Given the description of an element on the screen output the (x, y) to click on. 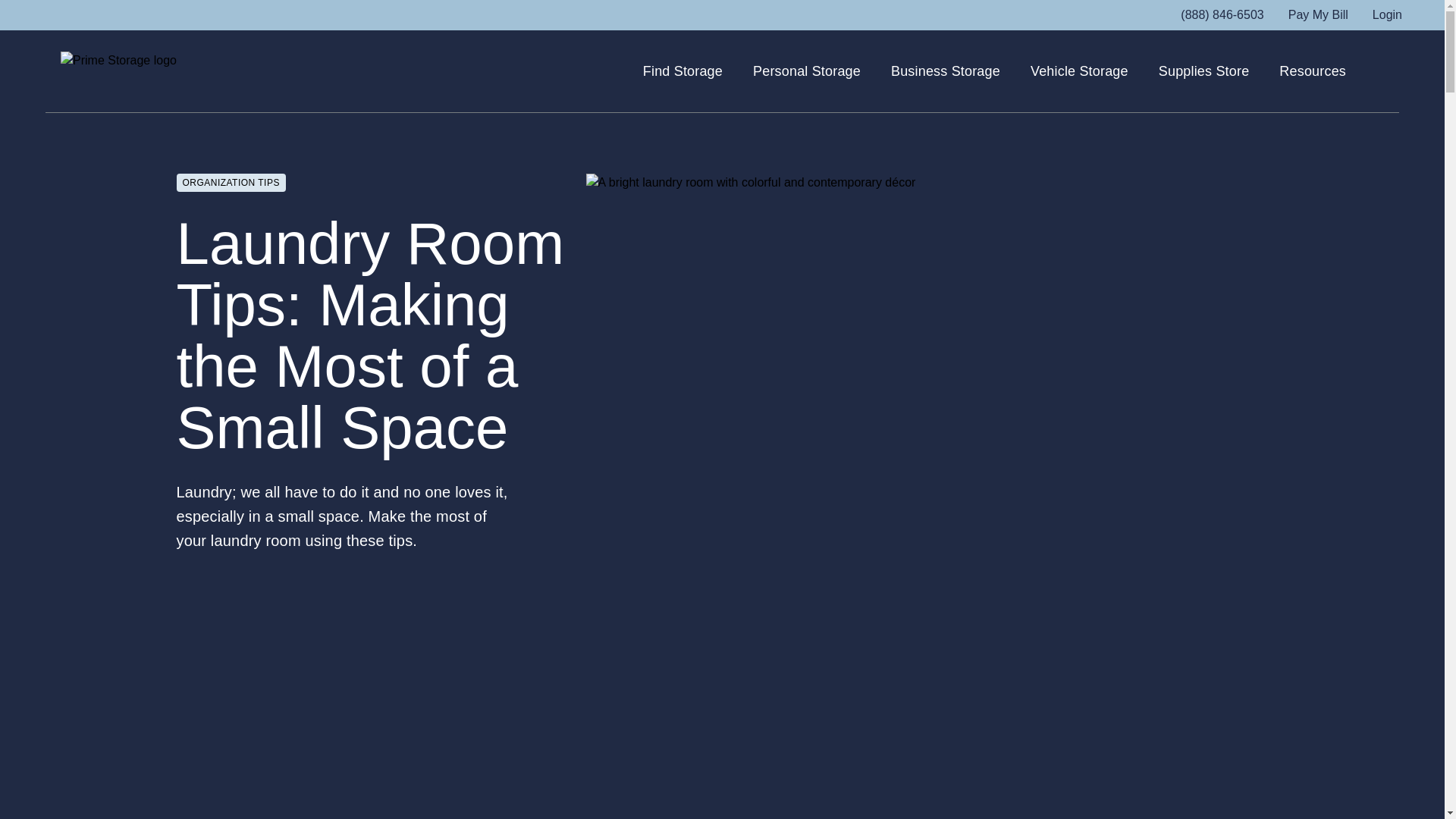
Vehicle Storage (1079, 71)
Business Storage (945, 71)
Find Storage (682, 71)
Supplies Store (1203, 71)
Personal Storage (806, 71)
Login (1387, 15)
Resources (1312, 71)
Pay My Bill (1318, 15)
